Given the description of an element on the screen output the (x, y) to click on. 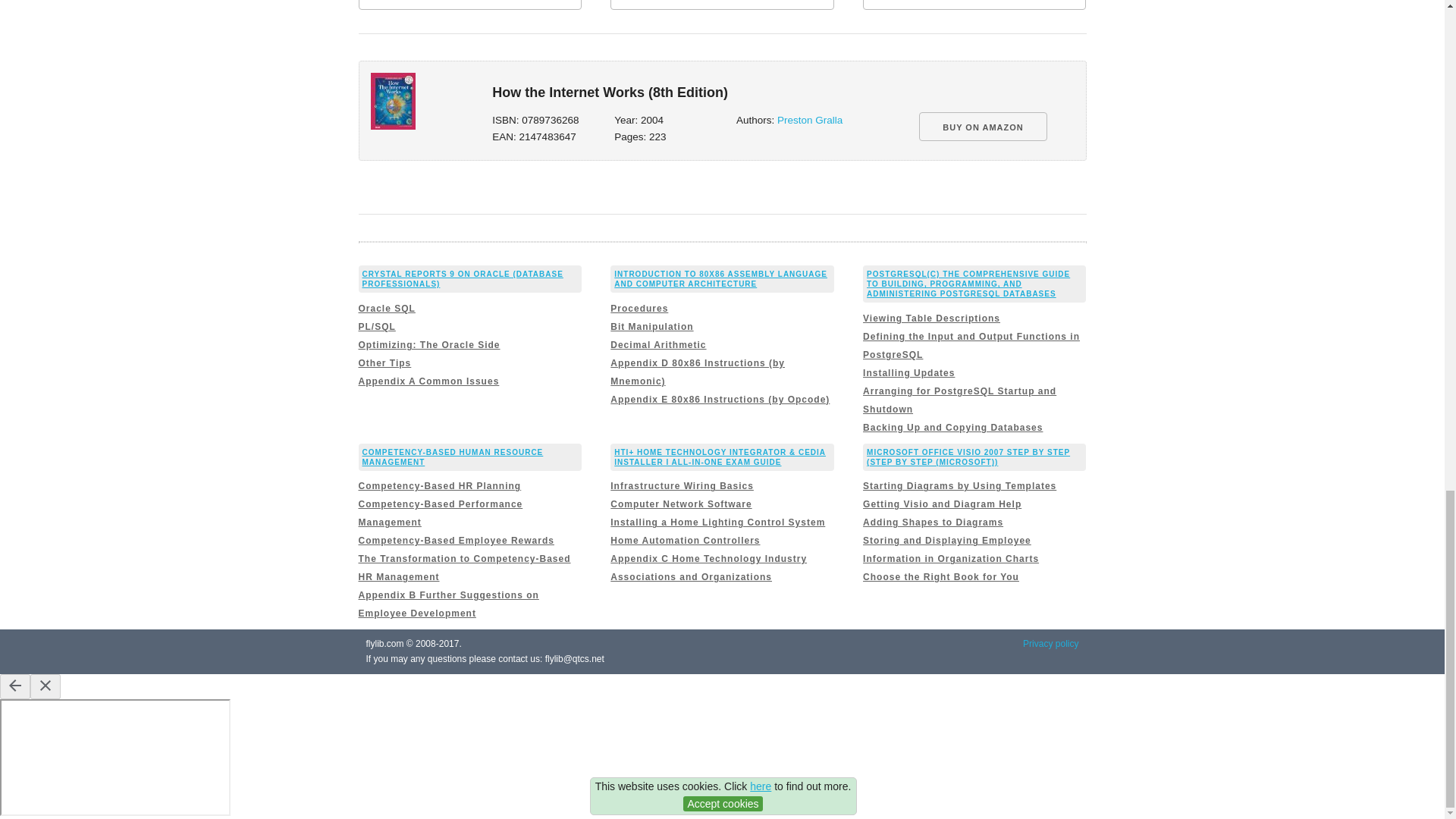
Defining the Input and Output Functions in PostgreSQL (971, 345)
Installing a Home Lighting Control System (717, 521)
PREVIOUS PAGE (469, 4)
The Transformation to Competency-Based HR Management (464, 567)
Infrastructure Wiring Basics (682, 485)
Viewing Table Descriptions (931, 317)
Arranging for PostgreSQL Startup and Shutdown (960, 399)
NEXT PAGE (974, 4)
Optimizing: The Oracle Side (428, 344)
COMPETENCY-BASED HUMAN RESOURCE MANAGEMENT (452, 456)
Competency-Based Performance Management (440, 512)
Competency-Based Employee Rewards (455, 540)
Computer Network Software (680, 503)
